Given the description of an element on the screen output the (x, y) to click on. 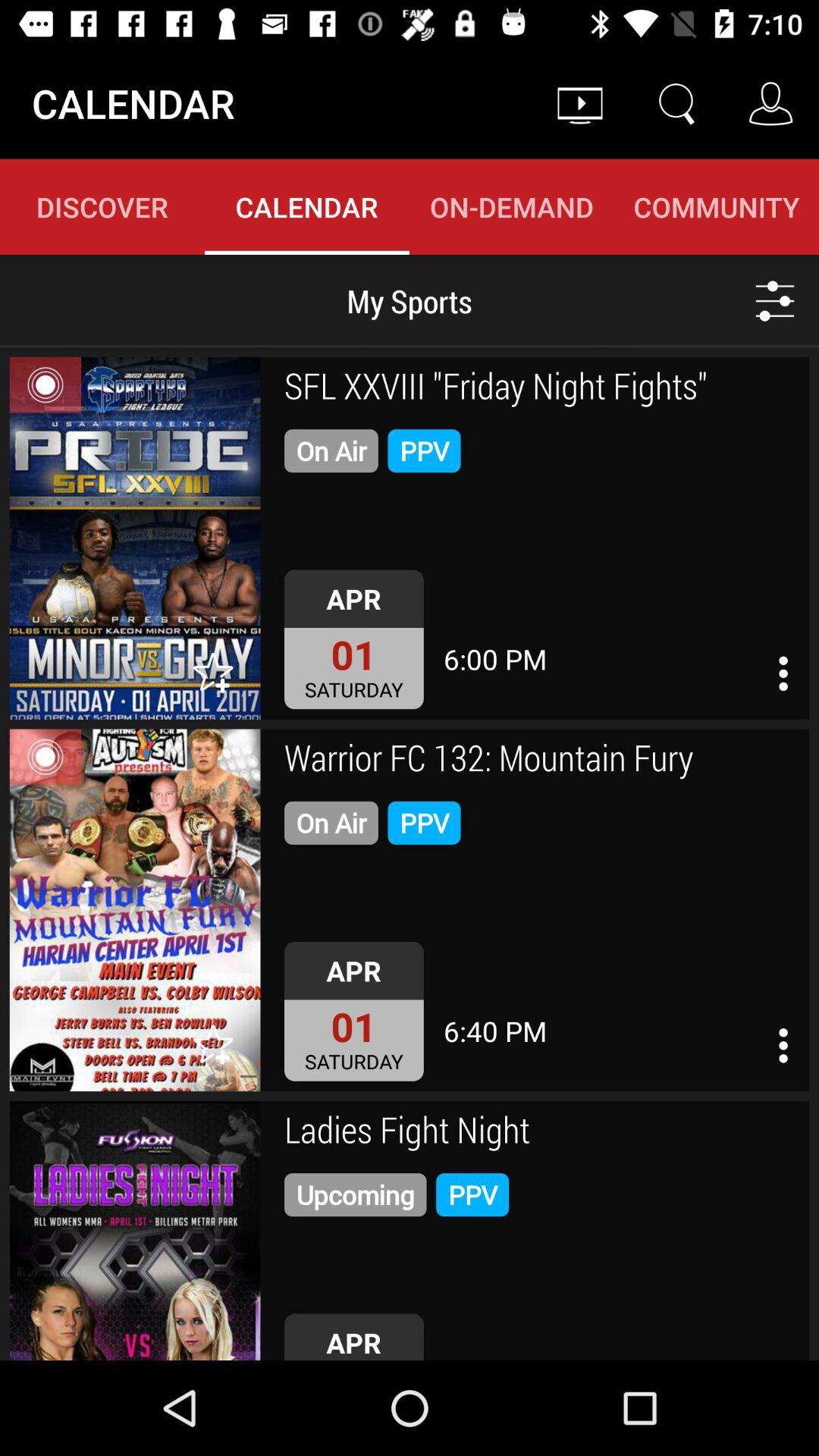
select item above the upcoming item (541, 1132)
